Given the description of an element on the screen output the (x, y) to click on. 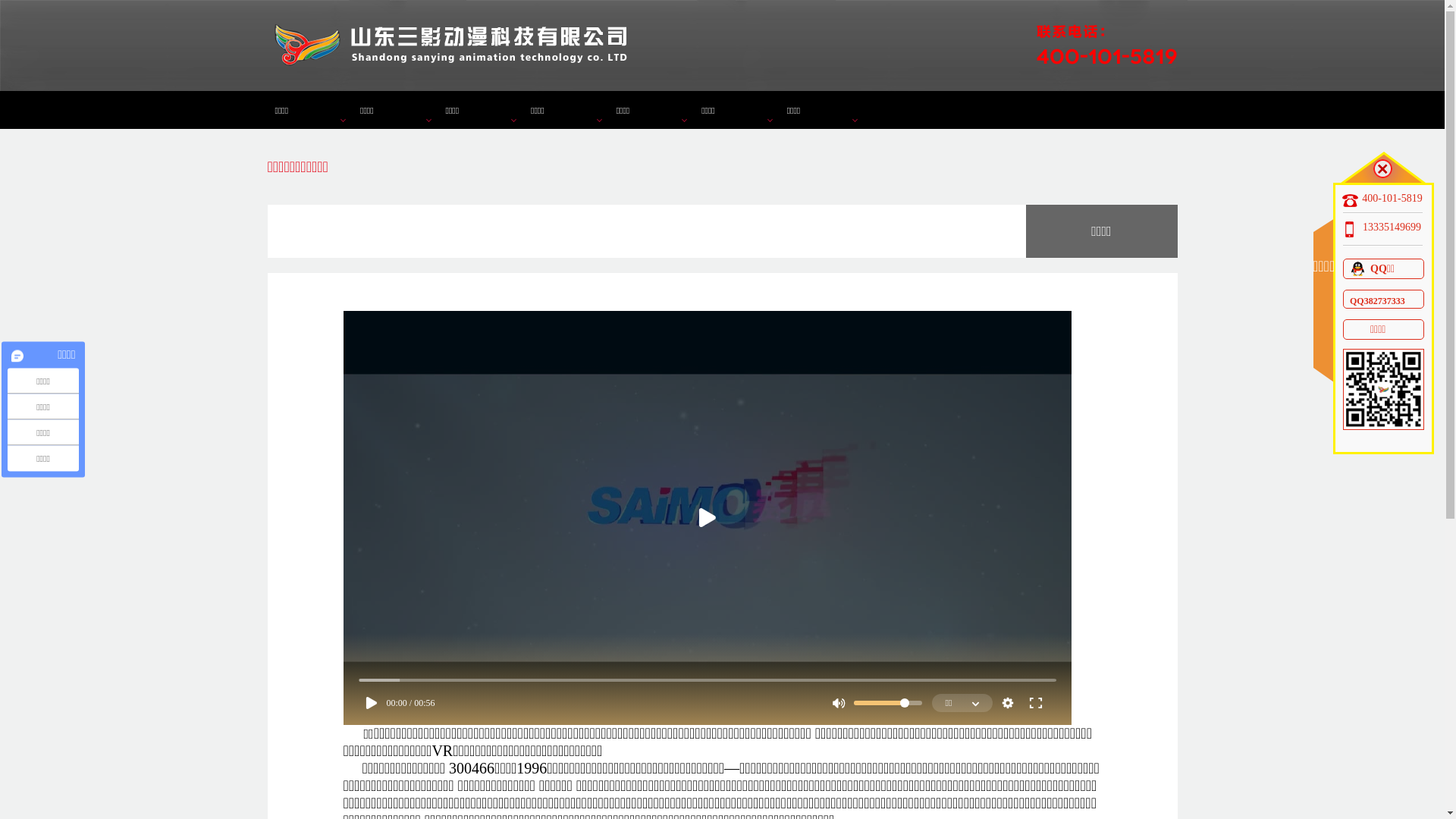
QQ382737333 Element type: text (1383, 298)
